Given the description of an element on the screen output the (x, y) to click on. 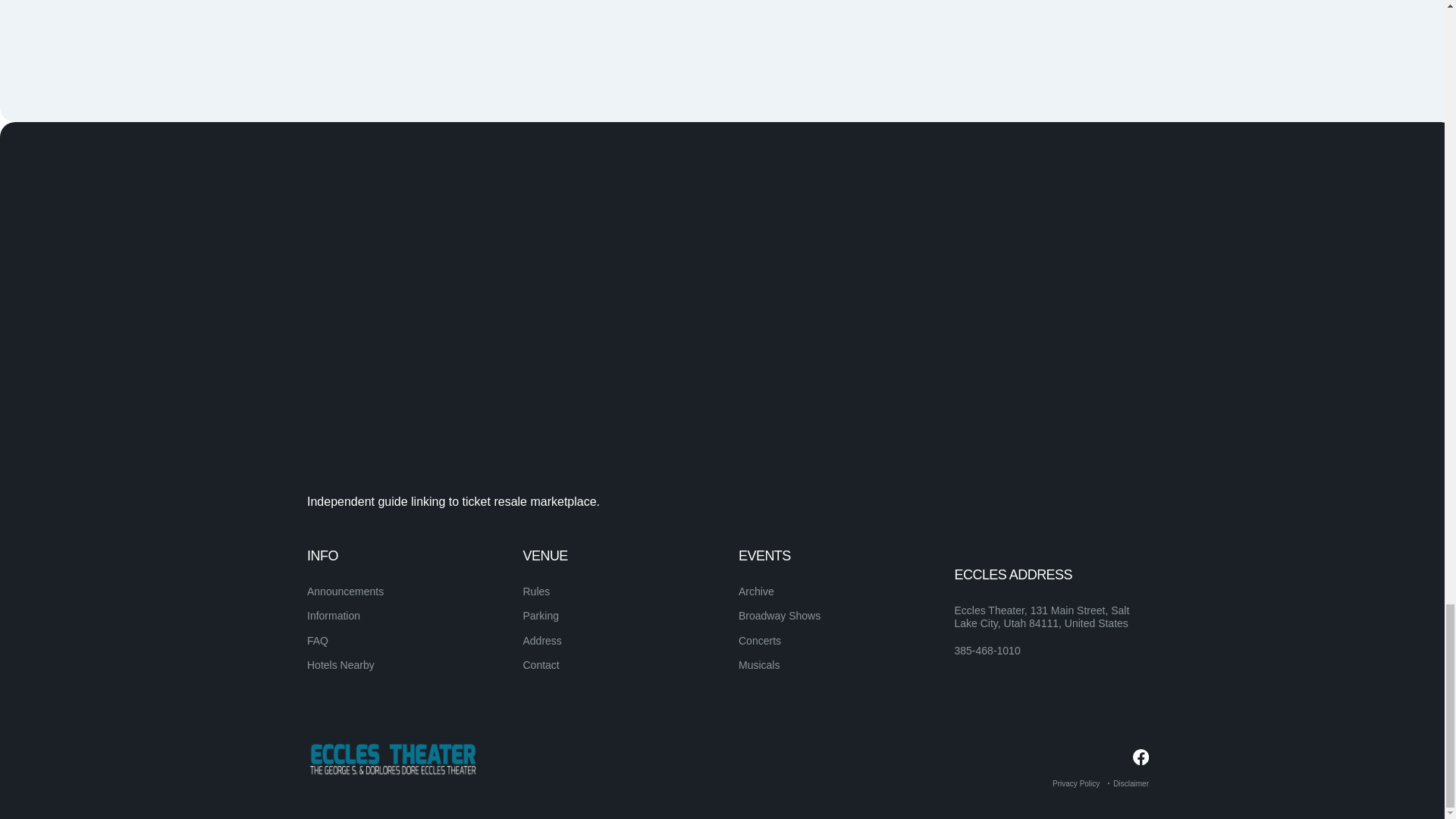
Address (542, 640)
Broadway Shows (779, 615)
Archive (756, 591)
Contact (540, 664)
Privacy Policy (1075, 783)
Hotels Nearby (340, 664)
SUBSCRIBE (1095, 584)
Information (333, 615)
FAQ (318, 640)
385-468-1010 (986, 651)
